Given the description of an element on the screen output the (x, y) to click on. 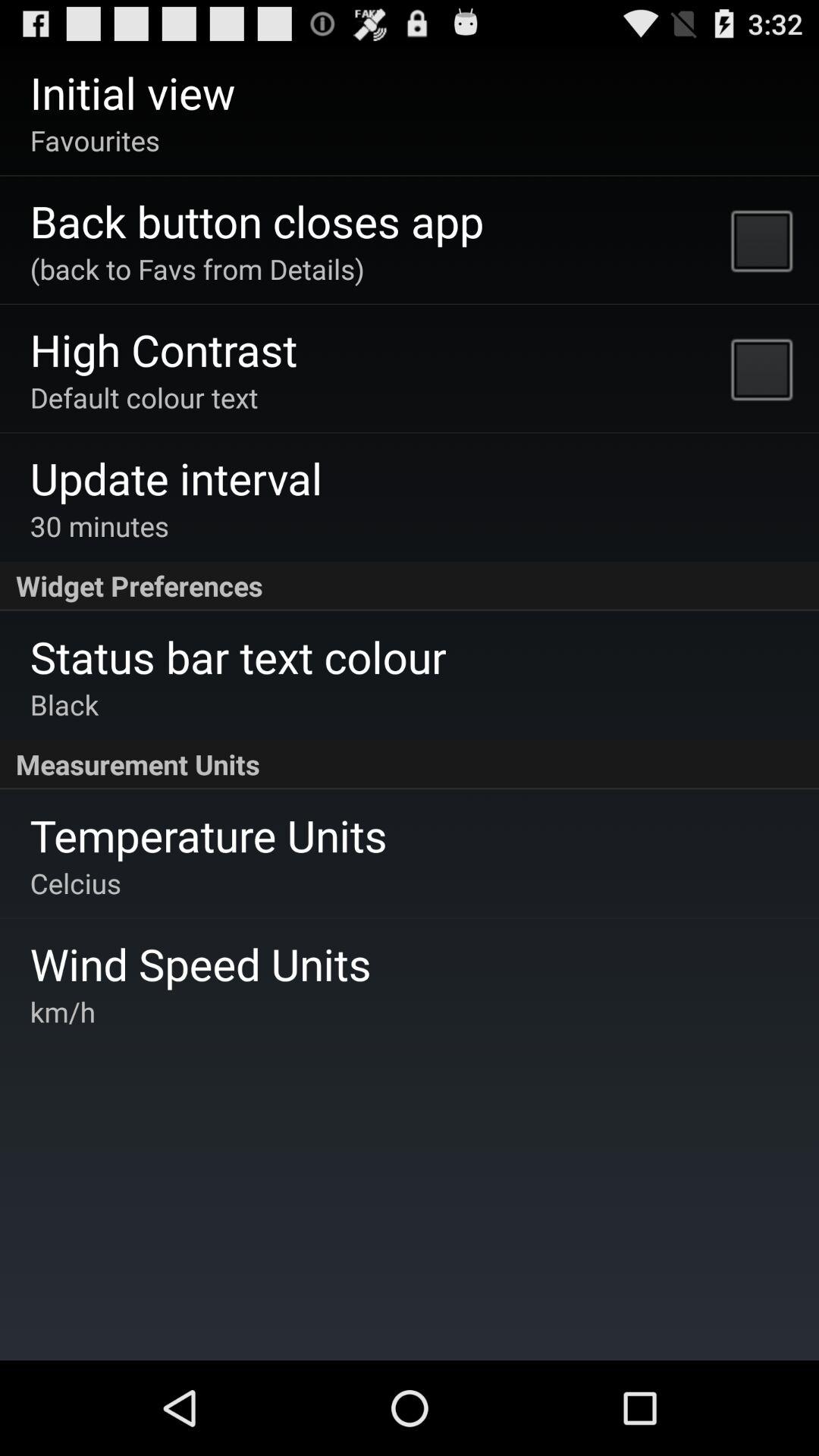
scroll to celcius item (75, 883)
